Given the description of an element on the screen output the (x, y) to click on. 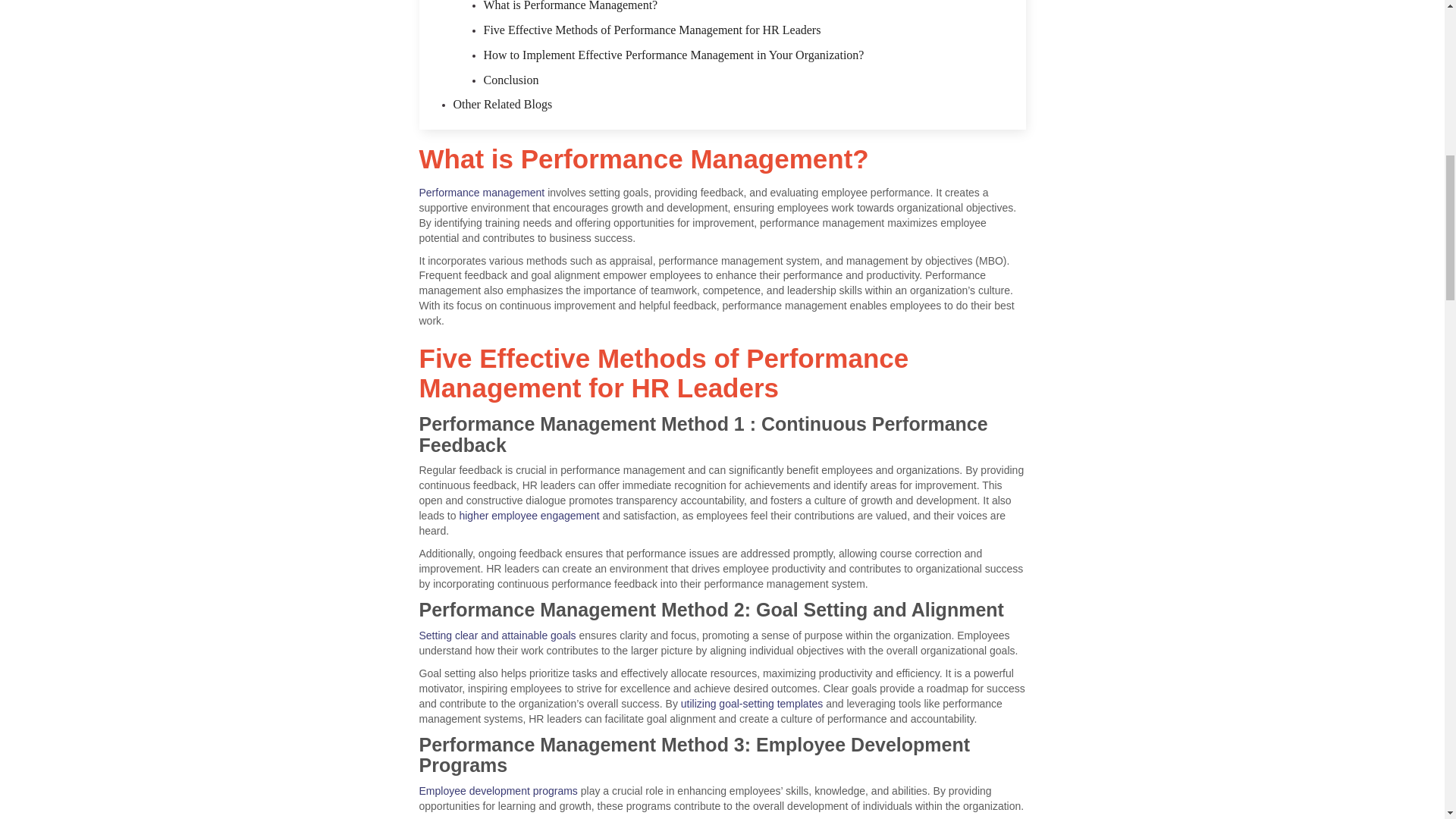
Employee development programs (497, 790)
Other Related Blogs (502, 103)
utilizing goal-setting templates (752, 703)
higher employee engagement (528, 515)
What is Performance Management? (570, 5)
Performance management (481, 192)
Conclusion (510, 79)
Setting clear and attainable goals (497, 635)
